Given the description of an element on the screen output the (x, y) to click on. 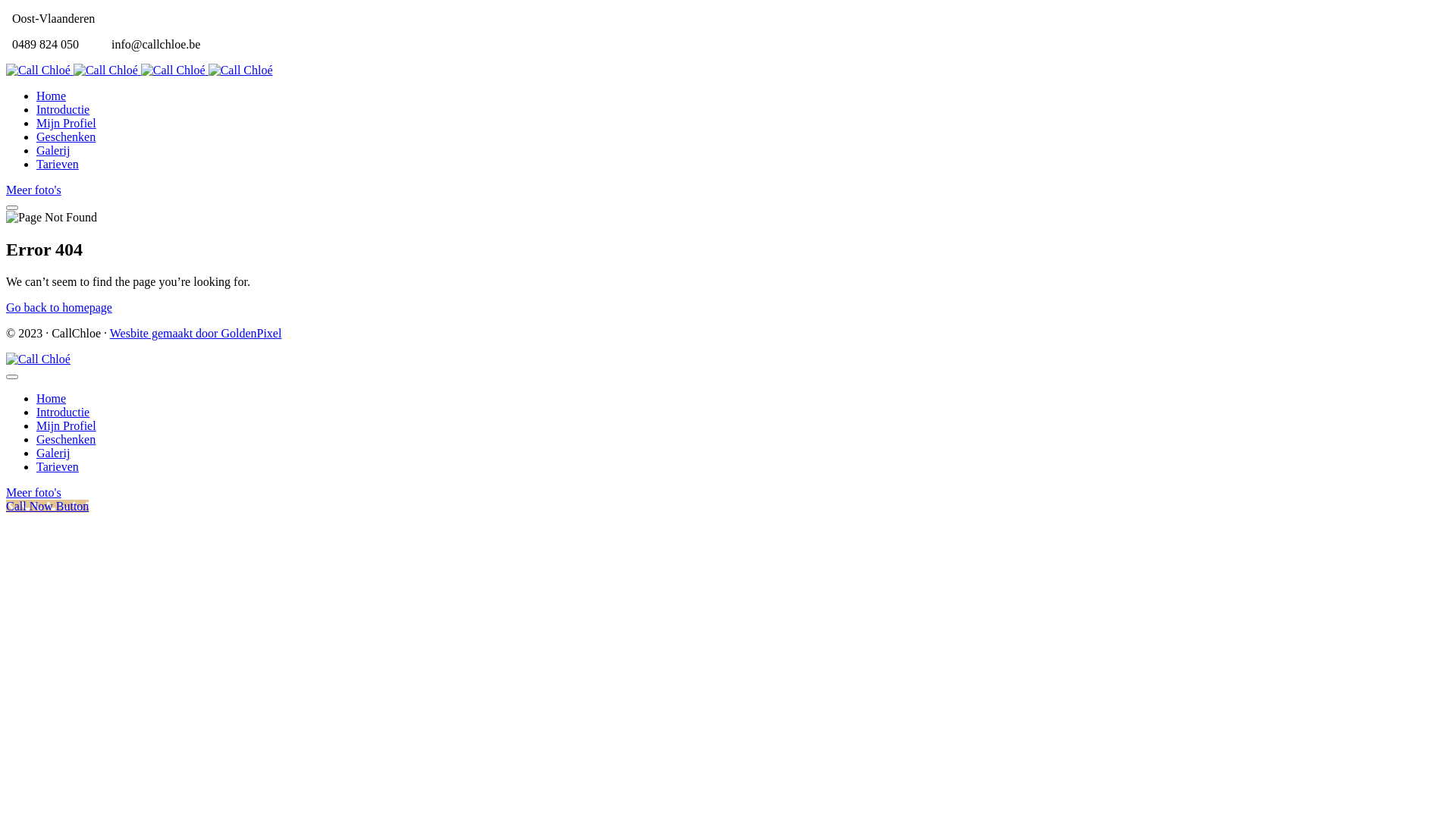
Mijn Profiel Element type: text (66, 425)
Mijn Profiel Element type: text (66, 122)
Home Element type: text (50, 398)
Galerij Element type: text (52, 150)
Introductie Element type: text (62, 109)
Meer foto's Element type: text (33, 189)
Go back to homepage Element type: text (59, 307)
Geschenken Element type: text (65, 439)
Tarieven Element type: text (57, 163)
Wesbite gemaakt door GoldenPixel Element type: text (195, 332)
Introductie Element type: text (62, 411)
Geschenken Element type: text (65, 136)
Meer foto's Element type: text (33, 492)
Galerij Element type: text (52, 452)
Tarieven Element type: text (57, 466)
Call Now Button Element type: text (47, 505)
Home Element type: text (50, 95)
